Given the description of an element on the screen output the (x, y) to click on. 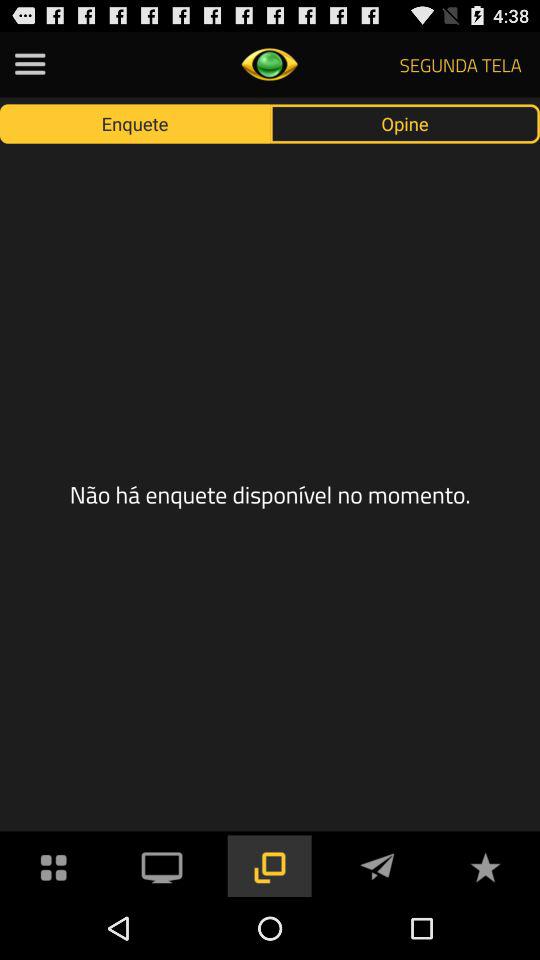
open button next to enquete (405, 123)
